Given the description of an element on the screen output the (x, y) to click on. 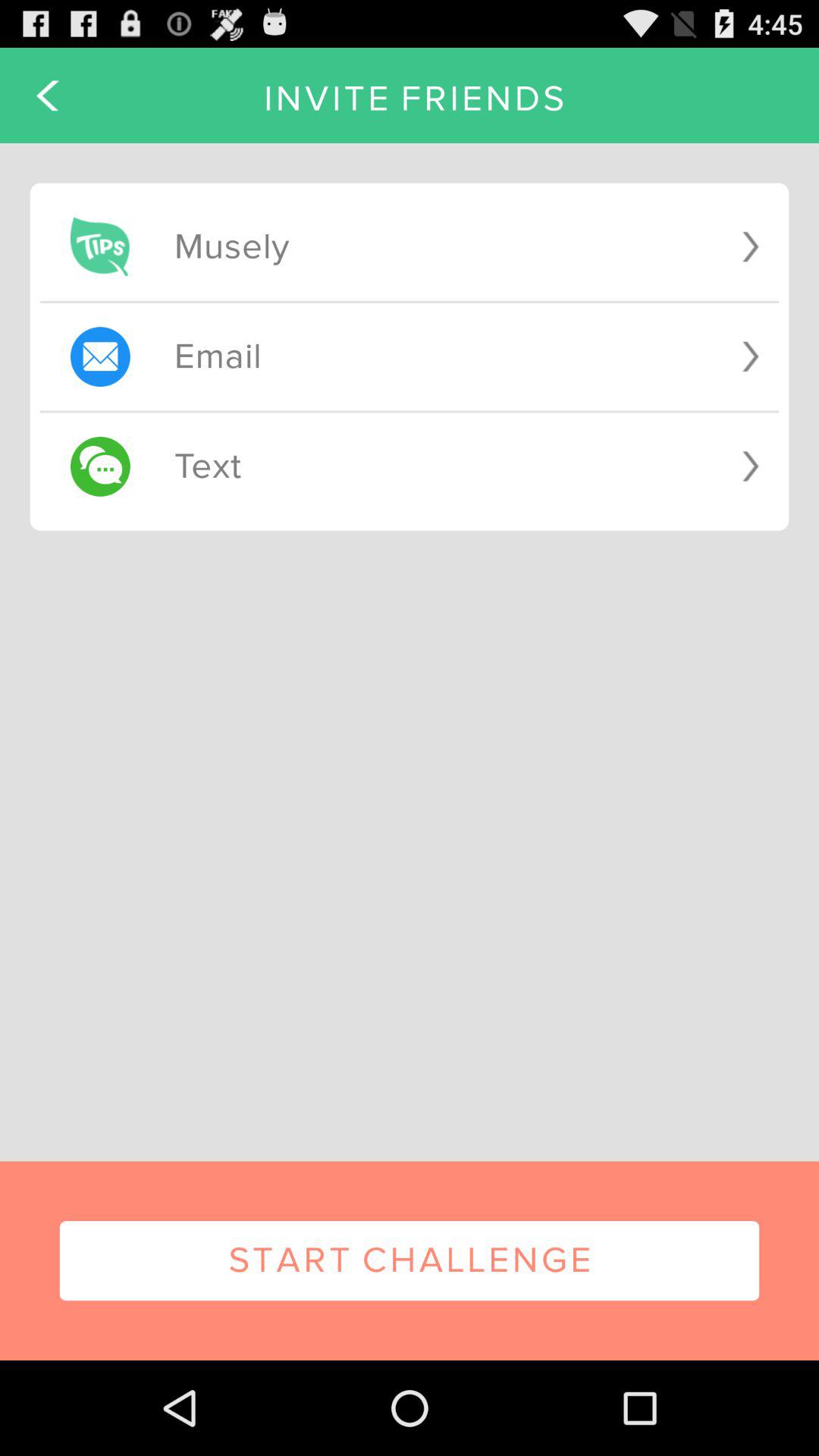
jump until start challenge icon (409, 1260)
